Given the description of an element on the screen output the (x, y) to click on. 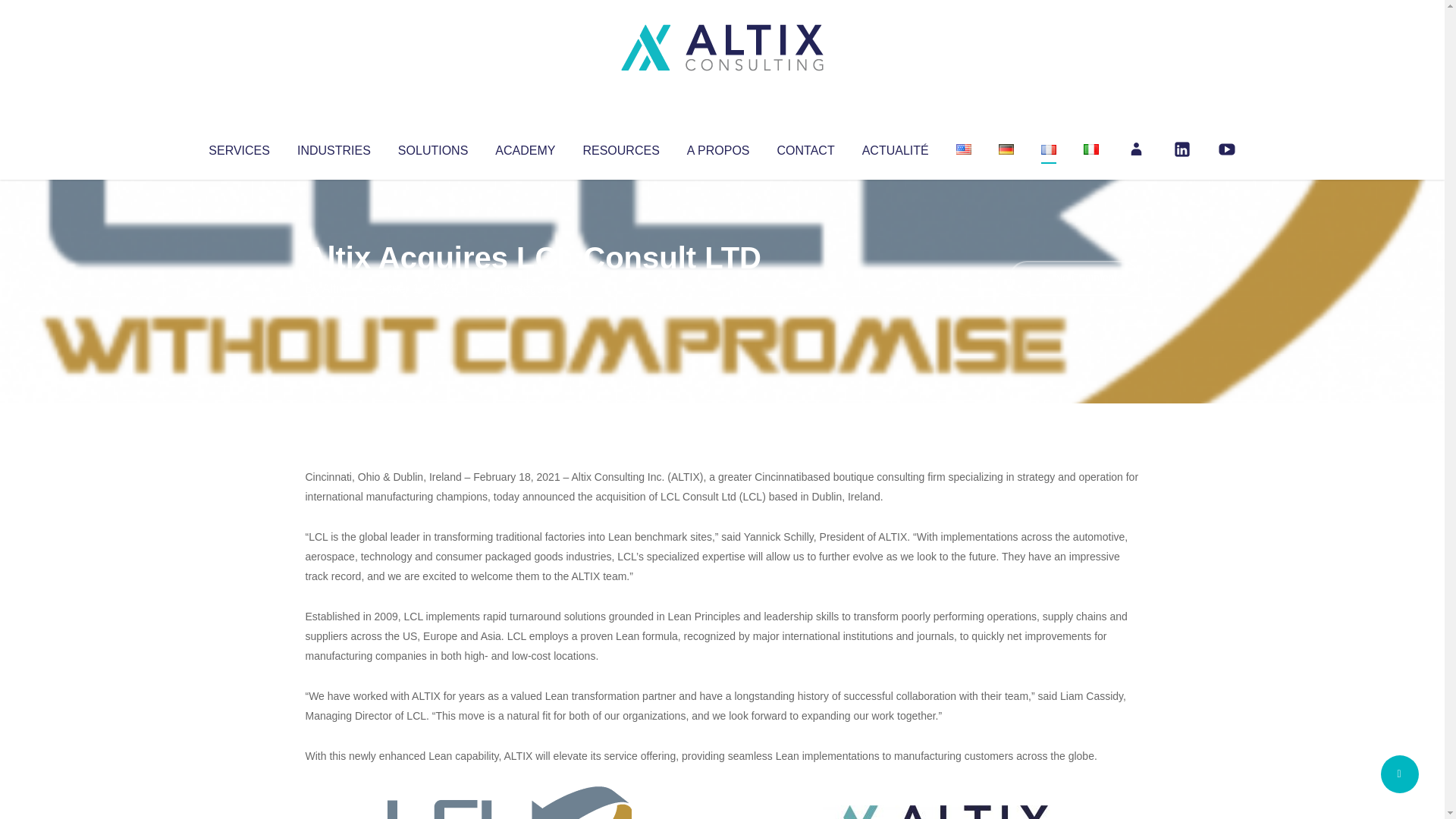
Articles par Altix (333, 287)
A PROPOS (718, 146)
RESOURCES (620, 146)
SOLUTIONS (432, 146)
ACADEMY (524, 146)
INDUSTRIES (334, 146)
No Comments (1073, 278)
Uncategorized (530, 287)
Altix (333, 287)
SERVICES (238, 146)
